Given the description of an element on the screen output the (x, y) to click on. 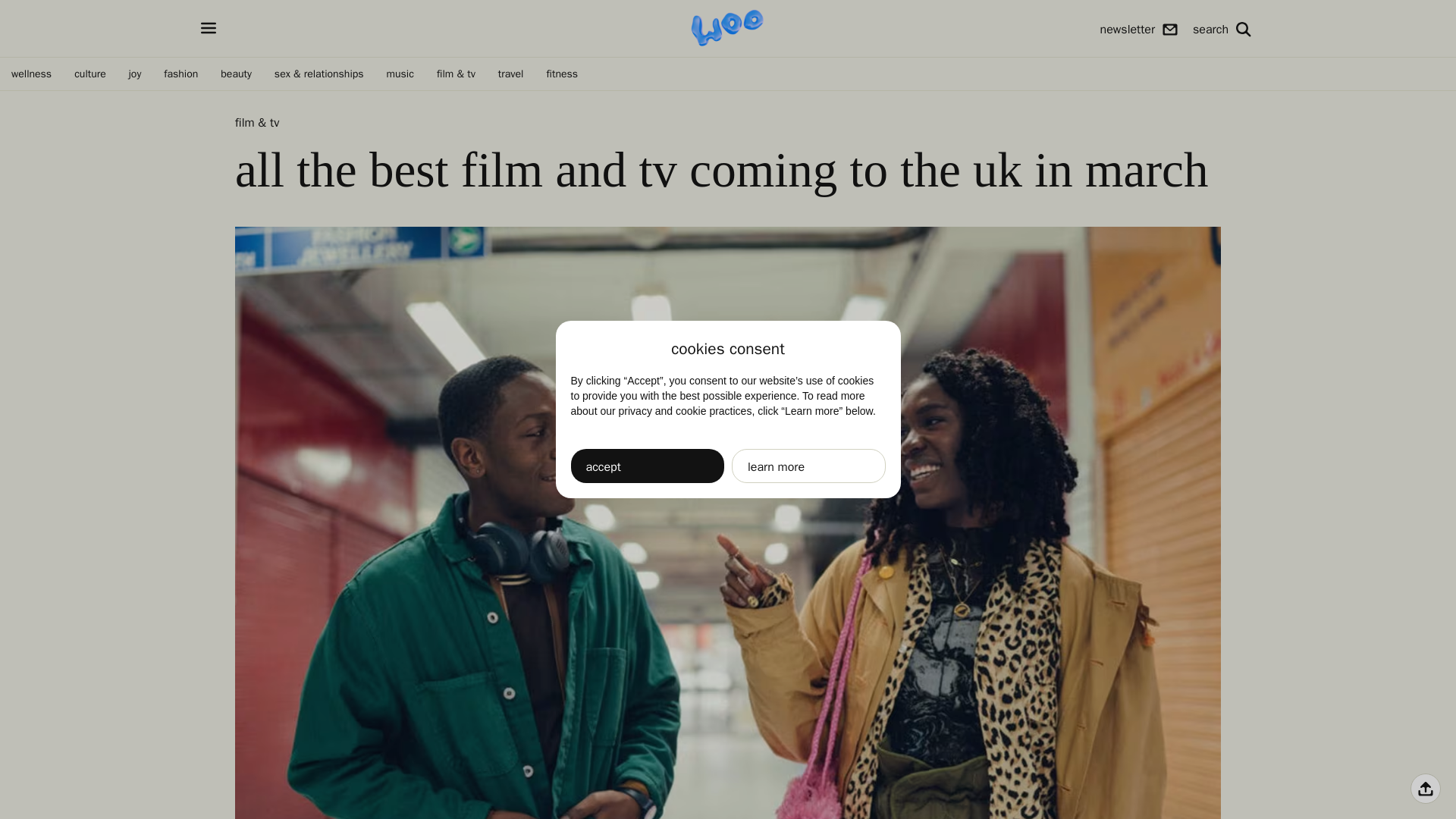
wellness (31, 74)
music (399, 74)
culture (89, 74)
search (1221, 27)
fashion (181, 74)
beauty (236, 74)
newsletter (1138, 28)
